Given the description of an element on the screen output the (x, y) to click on. 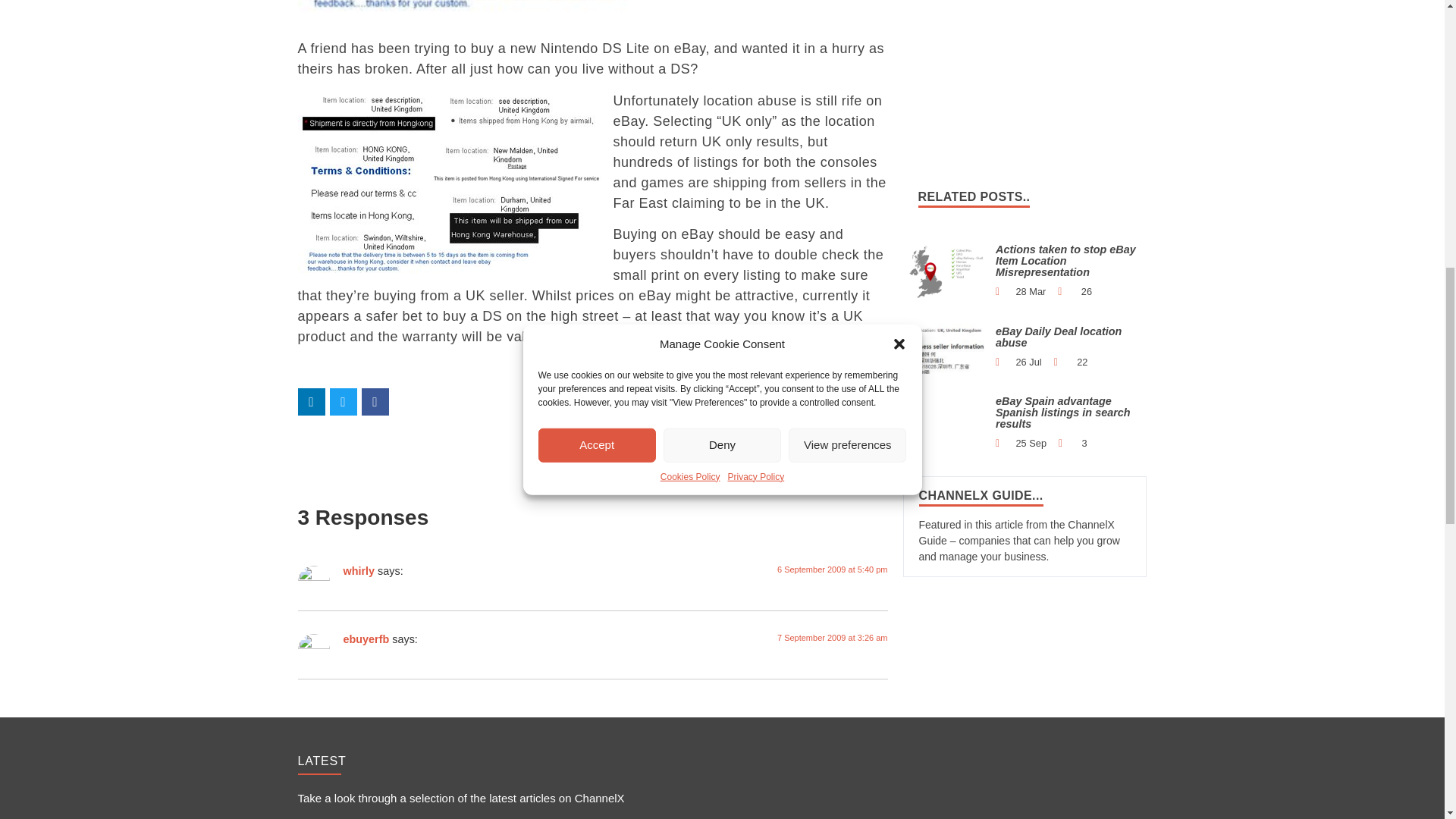
Location-Abuse-on-eBay-Deals (946, 347)
eBay-Item-Location-Misrepresentation (946, 271)
location abuse (448, 183)
